Given the description of an element on the screen output the (x, y) to click on. 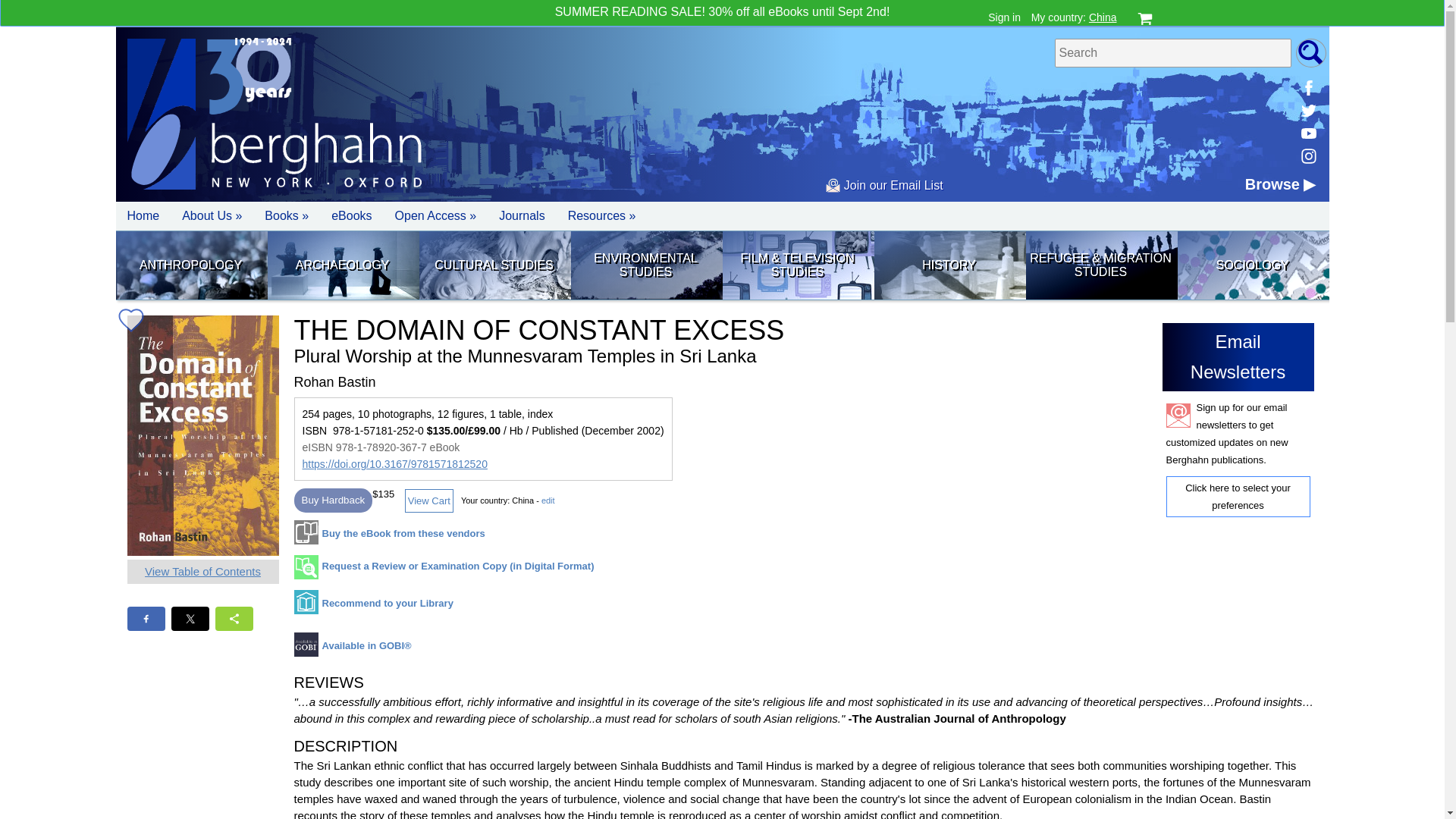
Environmental Studies (645, 265)
Film Studies (797, 265)
Available in GOBI (353, 649)
Berghahn Books on Youtube (1308, 133)
Anthropology (189, 264)
Cultural Studies (494, 264)
Archaeology (341, 264)
Berghahn Books on Twitter (1308, 110)
go (1310, 52)
Sociology (1251, 264)
Berghahn Books on Instagram (1308, 155)
Join our Email List (883, 185)
History (948, 264)
go (1310, 52)
Browse (1280, 184)
